Given the description of an element on the screen output the (x, y) to click on. 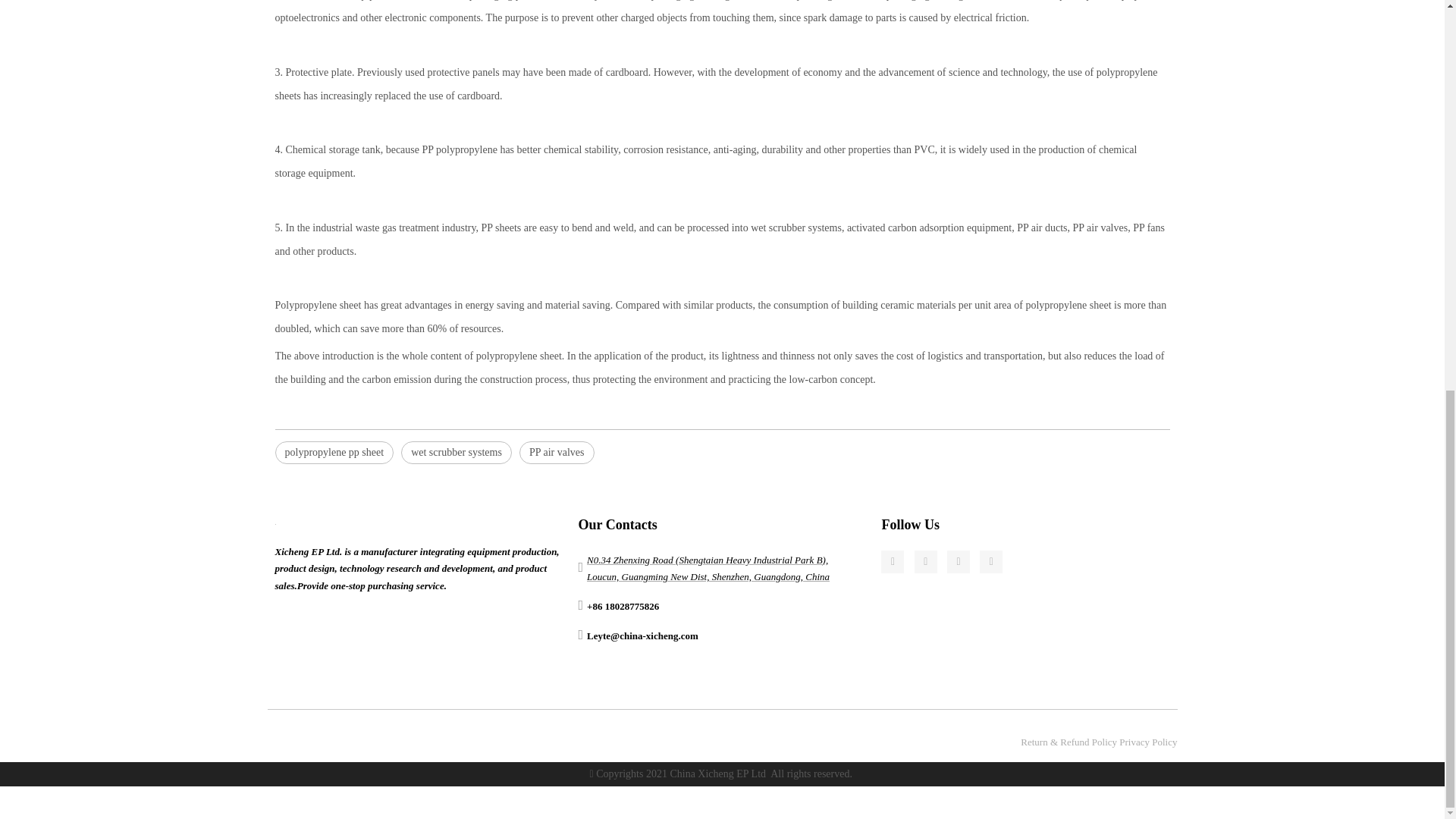
PP air valves (556, 452)
polypropylene pp sheet (334, 452)
wet scrubber systems (456, 452)
